Given the description of an element on the screen output the (x, y) to click on. 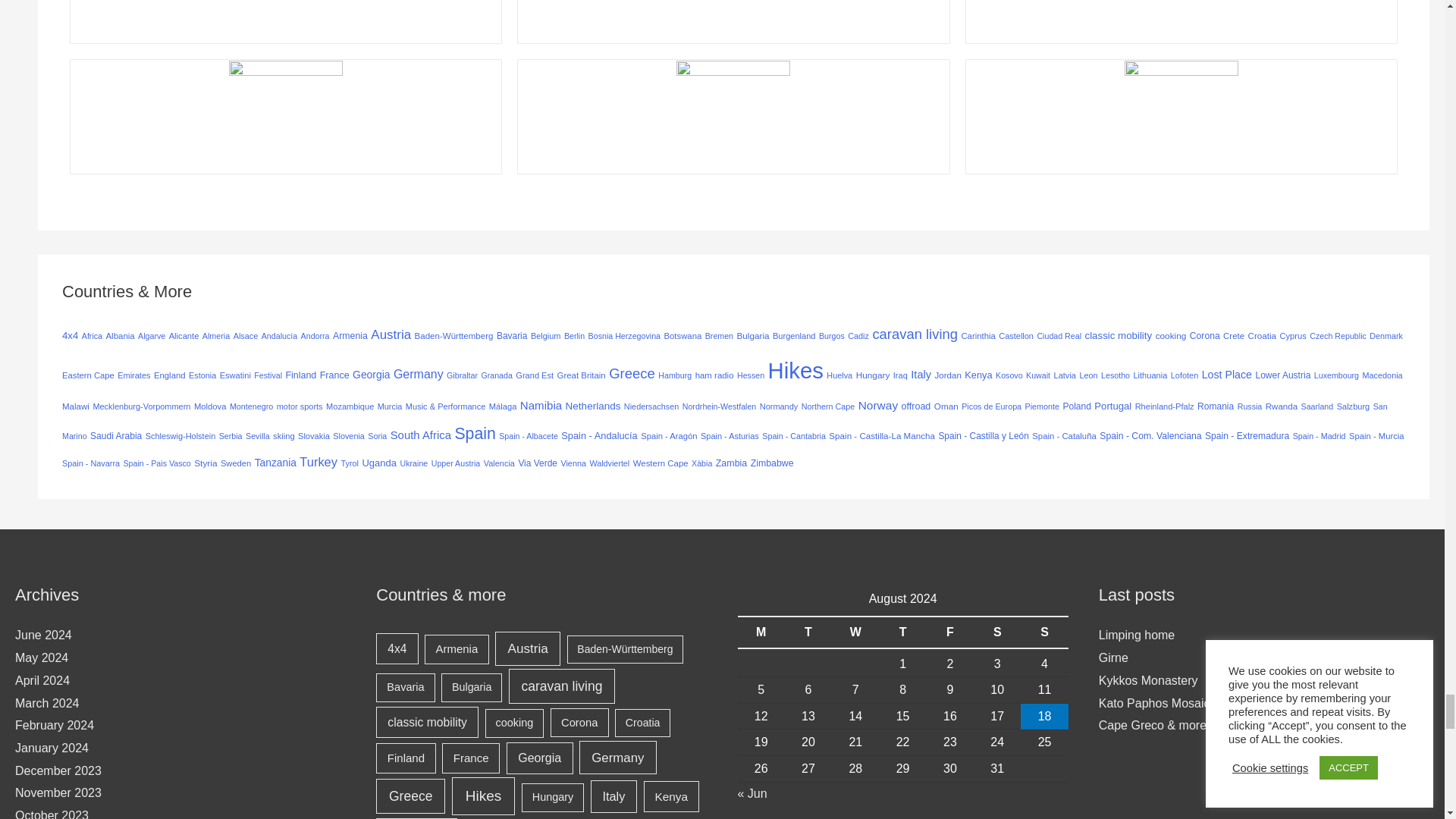
1 topics (91, 335)
1 topics (151, 335)
2 topics (216, 335)
3 topics (245, 335)
18 topics (350, 335)
9 topics (118, 335)
27 topics (70, 335)
1 topics (315, 335)
6 topics (183, 335)
1 topics (279, 335)
